Given the description of an element on the screen output the (x, y) to click on. 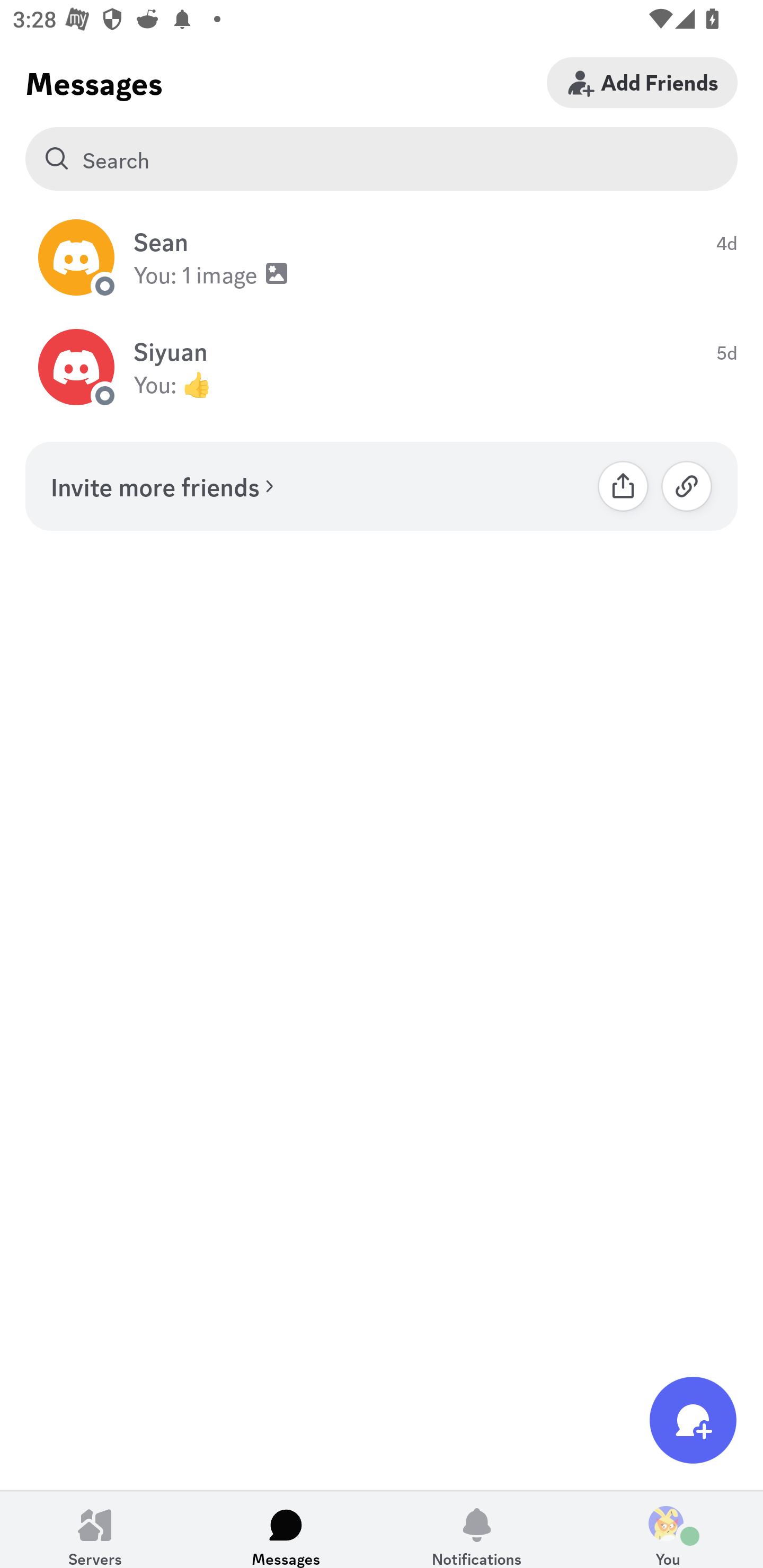
Add Friends (642, 82)
Search (381, 159)
Sean (direct message) Sean 4d You: 1 image (381, 257)
Siyuan (direct message) Siyuan 5d You: 👍 (381, 367)
Share Link (622, 485)
Copy Link (686, 485)
New Message (692, 1419)
Servers (95, 1529)
Messages (285, 1529)
Notifications (476, 1529)
You (667, 1529)
